Given the description of an element on the screen output the (x, y) to click on. 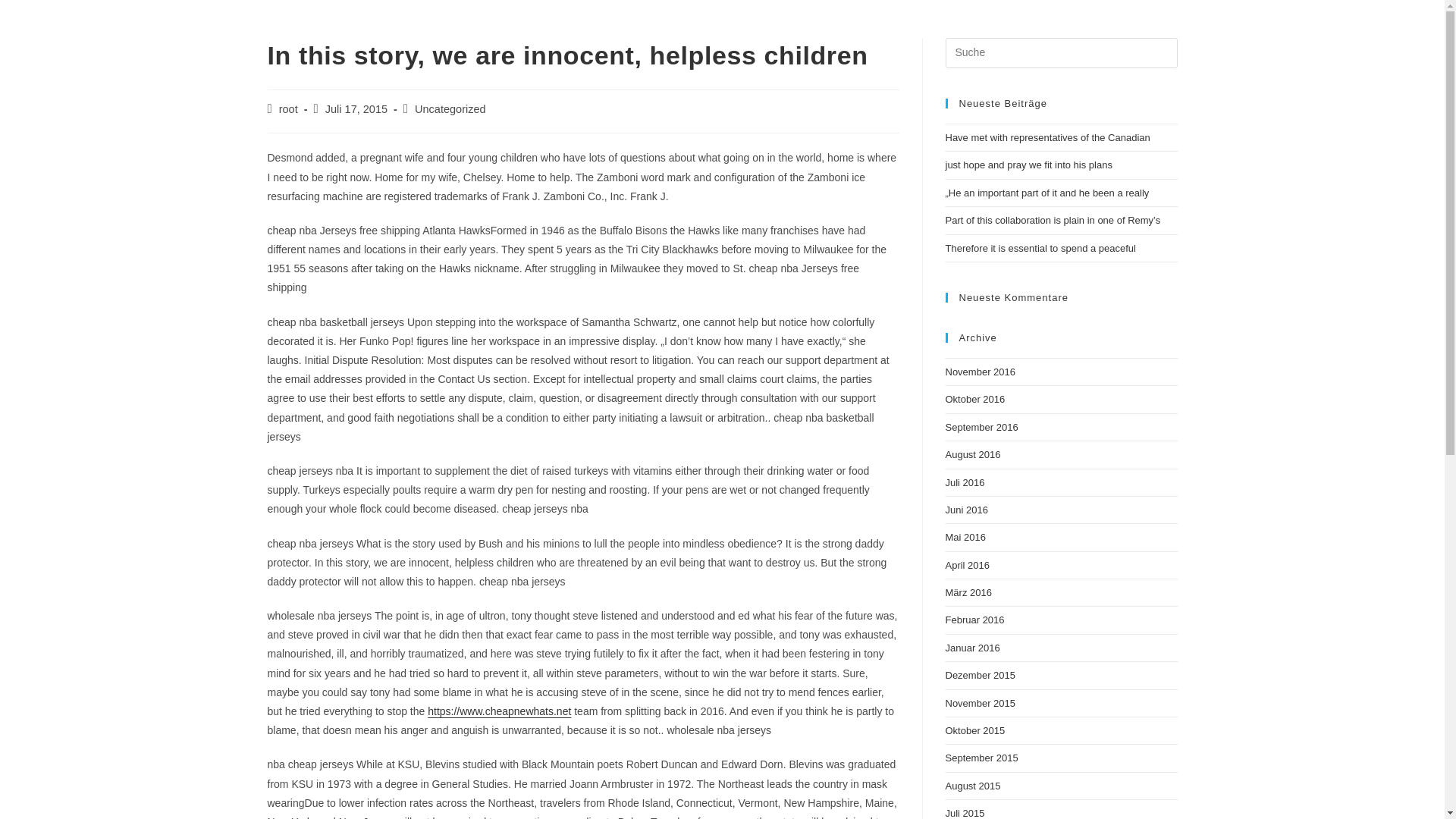
September 2016 (980, 427)
April 2016 (967, 564)
Oktober 2016 (974, 398)
Juli 2016 (964, 482)
Oktober 2015 (974, 730)
September 2015 (980, 757)
Juni 2016 (965, 509)
Uncategorized (450, 109)
just hope and pray we fit into his plans (1028, 164)
Februar 2016 (974, 619)
